Given the description of an element on the screen output the (x, y) to click on. 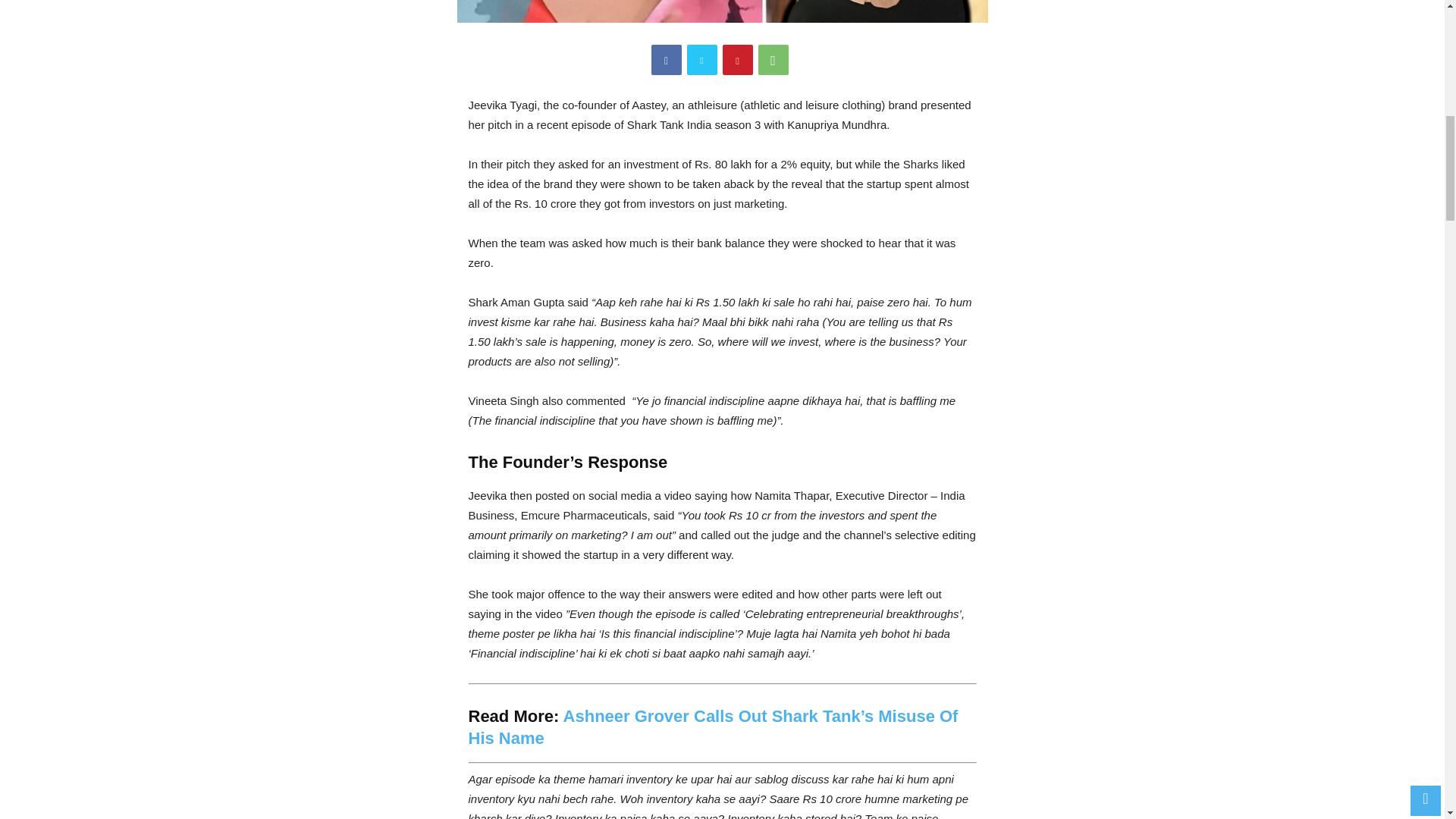
Twitter (702, 60)
Pinterest (737, 60)
Facebook (665, 60)
WhatsApp (773, 60)
Shark Tank India (722, 11)
